Given the description of an element on the screen output the (x, y) to click on. 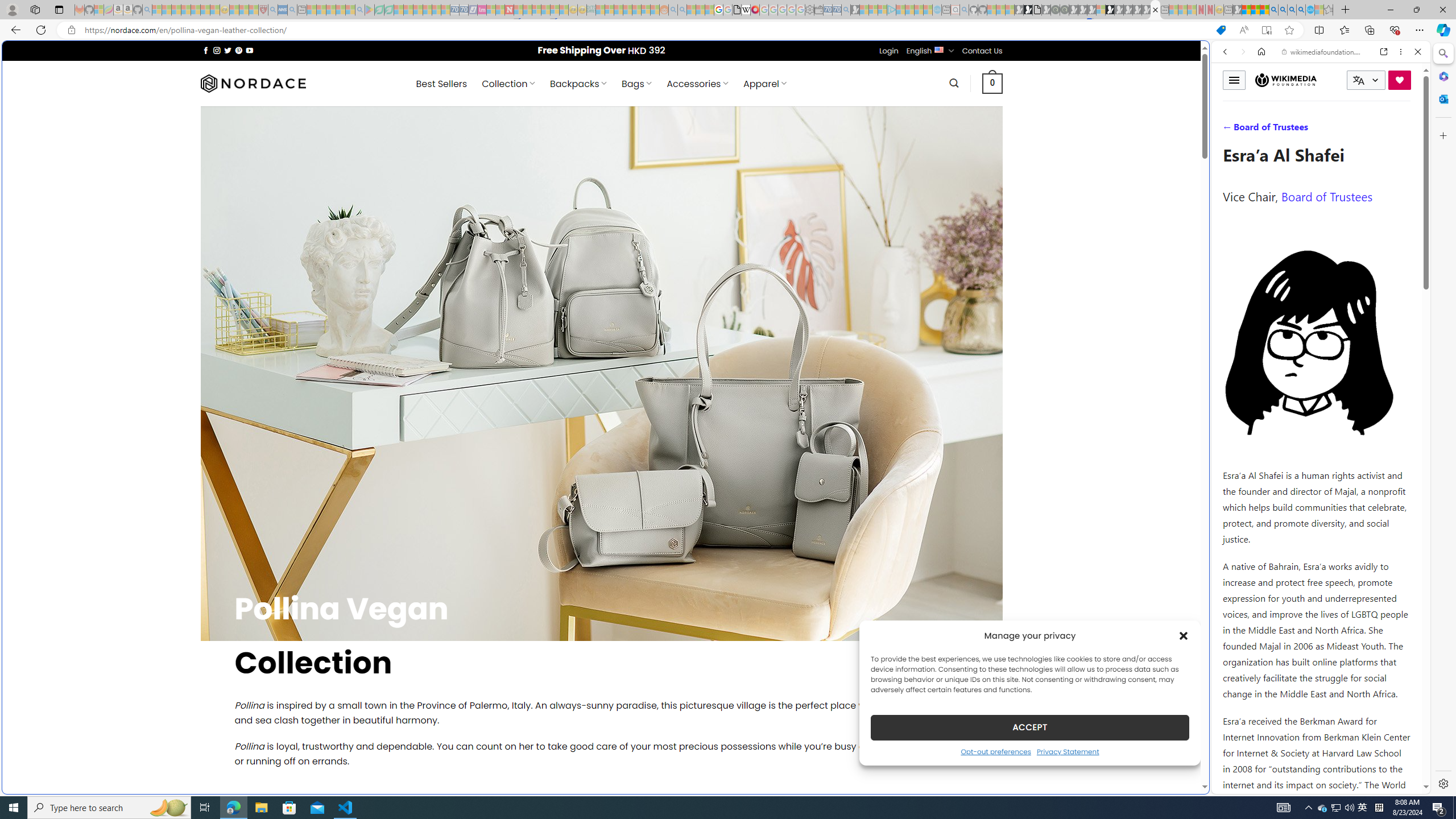
Class: cmplz-close (1183, 635)
Settings - Sleeping (809, 9)
Close split screen (1208, 57)
Play Zoo Boom in your browser | Games from Microsoft Start (1027, 9)
